Given the description of an element on the screen output the (x, y) to click on. 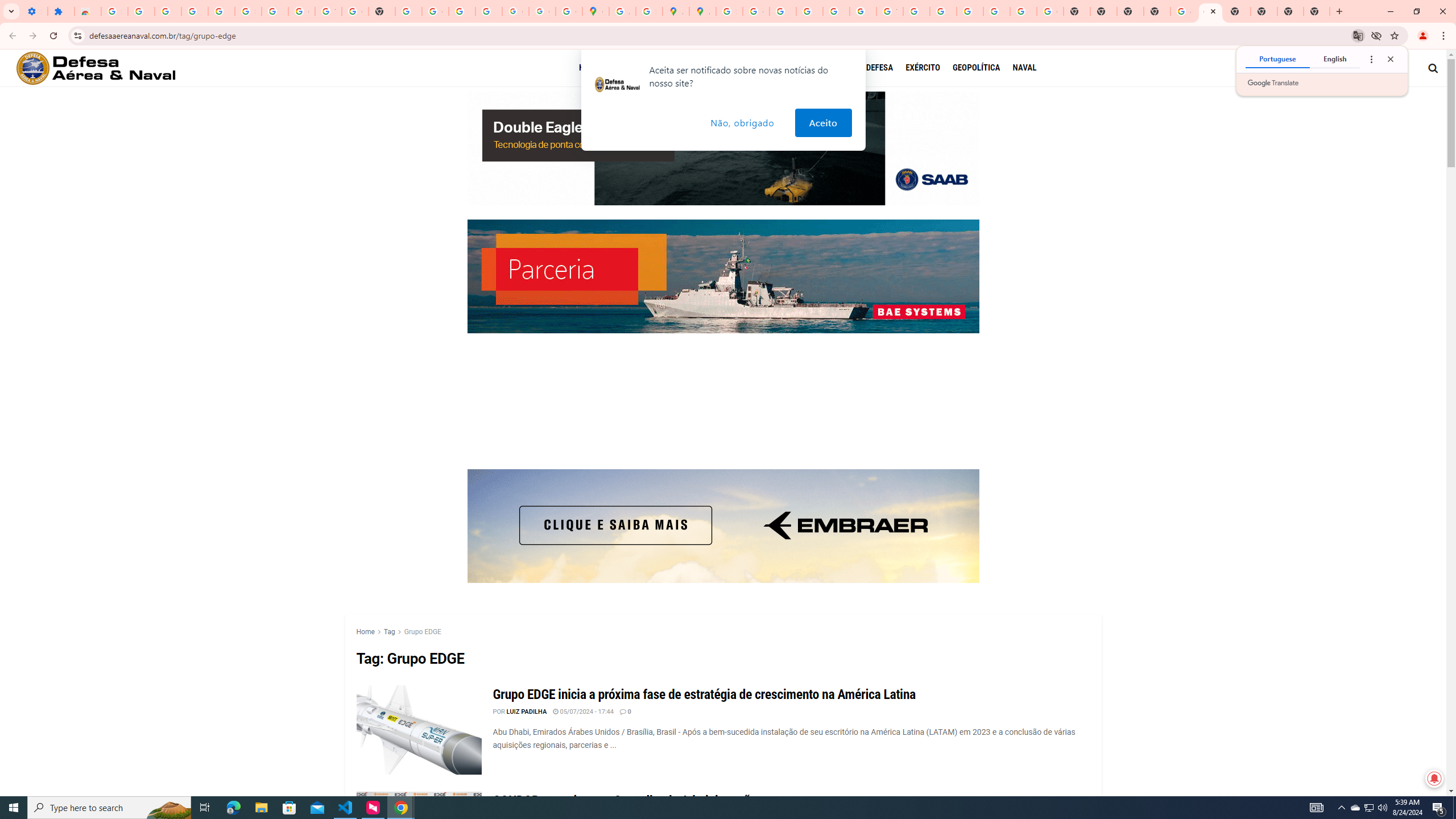
AutomationID: menu-item-105192 (640, 67)
AutomationID: canvas (723, 403)
Reviews: Helix Fruit Jump Arcade Game (87, 11)
AutomationID: menu-item-105114 (791, 67)
AutomationID: menu-item-105104 (1023, 67)
Tag (388, 631)
